Given the description of an element on the screen output the (x, y) to click on. 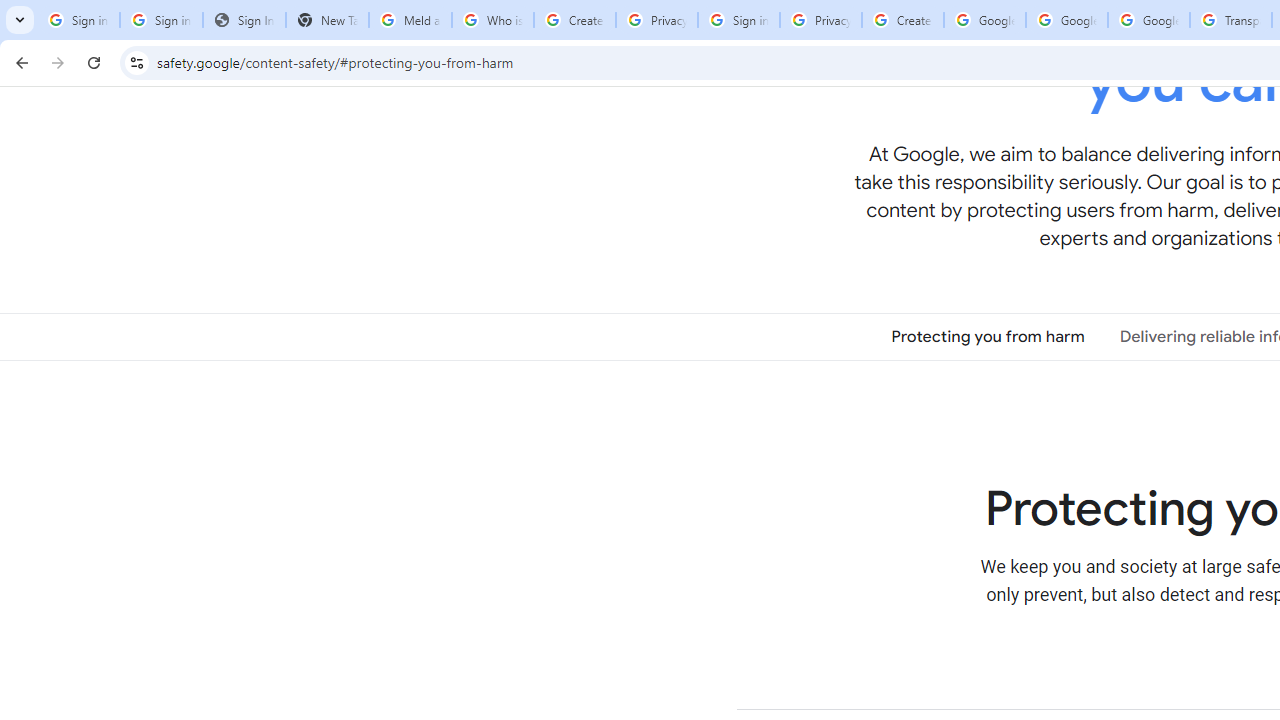
Sign In - USA TODAY (244, 20)
New Tab (326, 20)
Google Account (1149, 20)
Sign in - Google Accounts (738, 20)
Sign in - Google Accounts (78, 20)
Sign in - Google Accounts (161, 20)
Create your Google Account (902, 20)
Create your Google Account (574, 20)
Who is my administrator? - Google Account Help (492, 20)
